Given the description of an element on the screen output the (x, y) to click on. 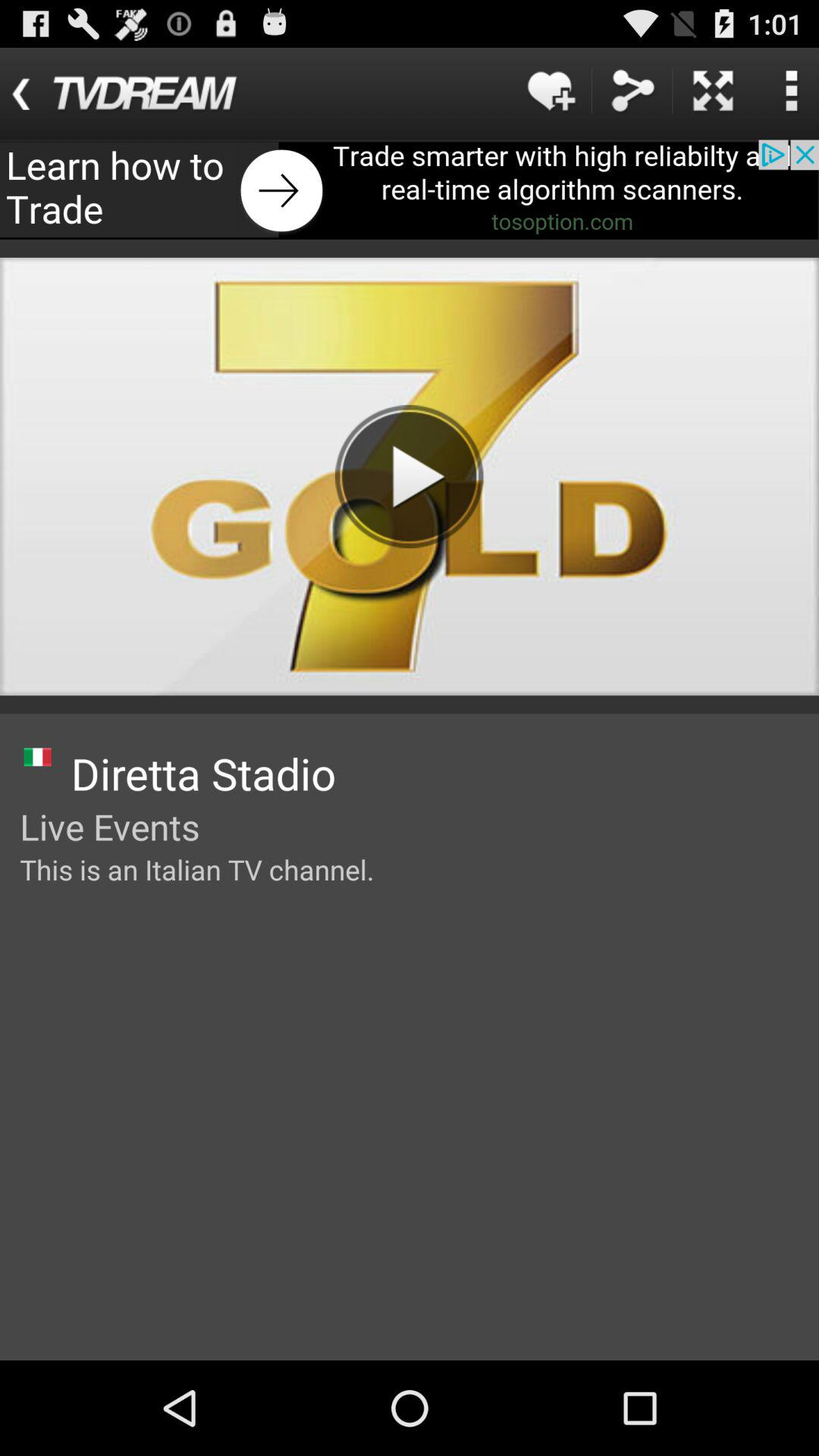
one or more connection (632, 90)
